Given the description of an element on the screen output the (x, y) to click on. 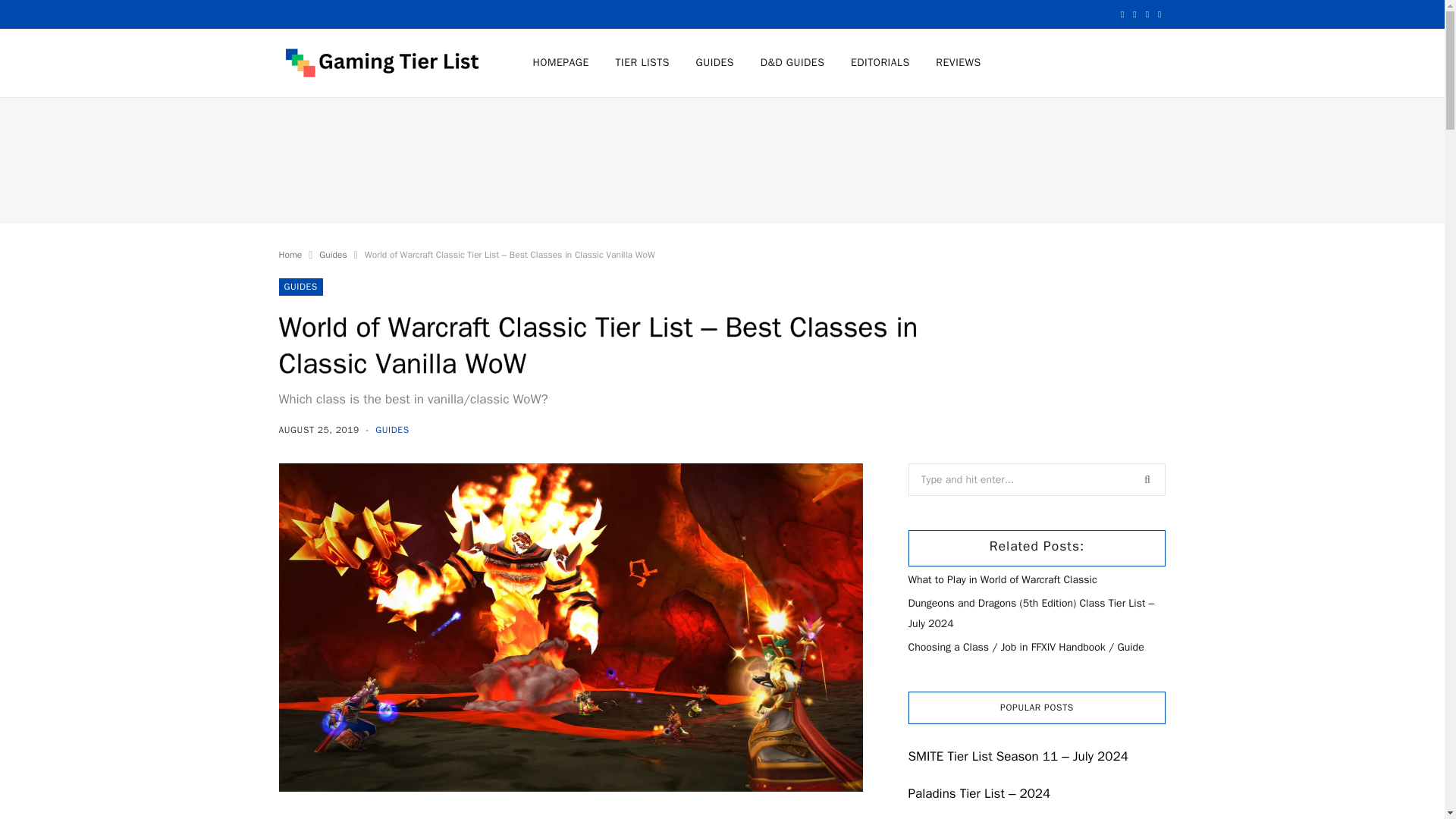
TIER LISTS (642, 62)
Discord (1147, 14)
GUIDES (392, 429)
HOMEPAGE (560, 62)
Gaming Tier List (381, 62)
Home (290, 254)
Facebook (1122, 14)
YouTube (1134, 14)
REVIEWS (957, 62)
Guides (332, 254)
EDITORIALS (880, 62)
GUIDES (301, 286)
GUIDES (714, 62)
AUGUST 25, 2019 (320, 429)
